Given the description of an element on the screen output the (x, y) to click on. 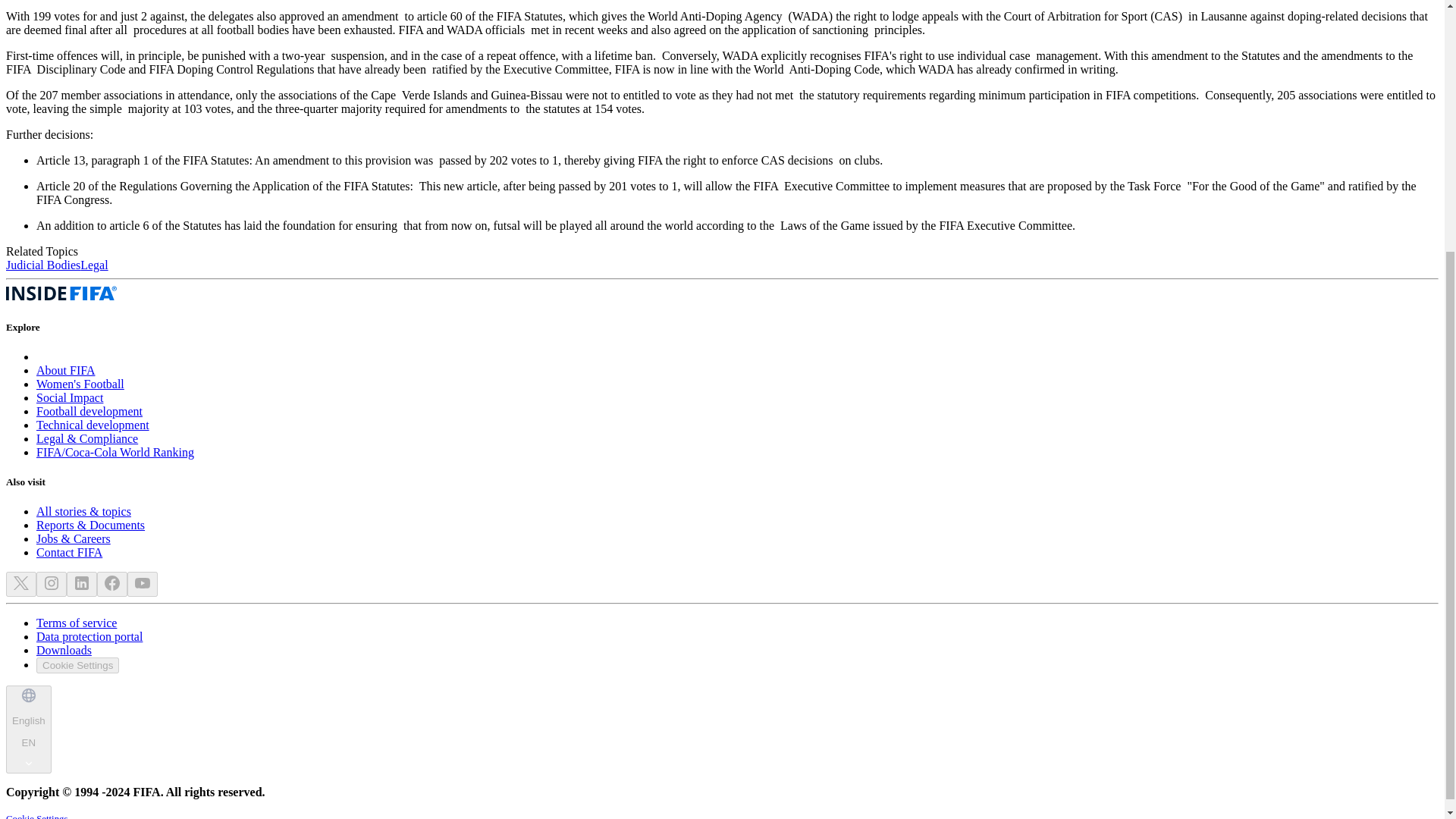
Football development (89, 410)
Technical development (27, 729)
Terms of service (92, 424)
Women's Football (76, 622)
Cookie Settings (79, 383)
Social Impact (77, 665)
Downloads (69, 397)
Contact FIFA (63, 649)
About FIFA (68, 552)
Judicial Bodies (66, 369)
Legal (42, 264)
Data protection portal (93, 264)
